Given the description of an element on the screen output the (x, y) to click on. 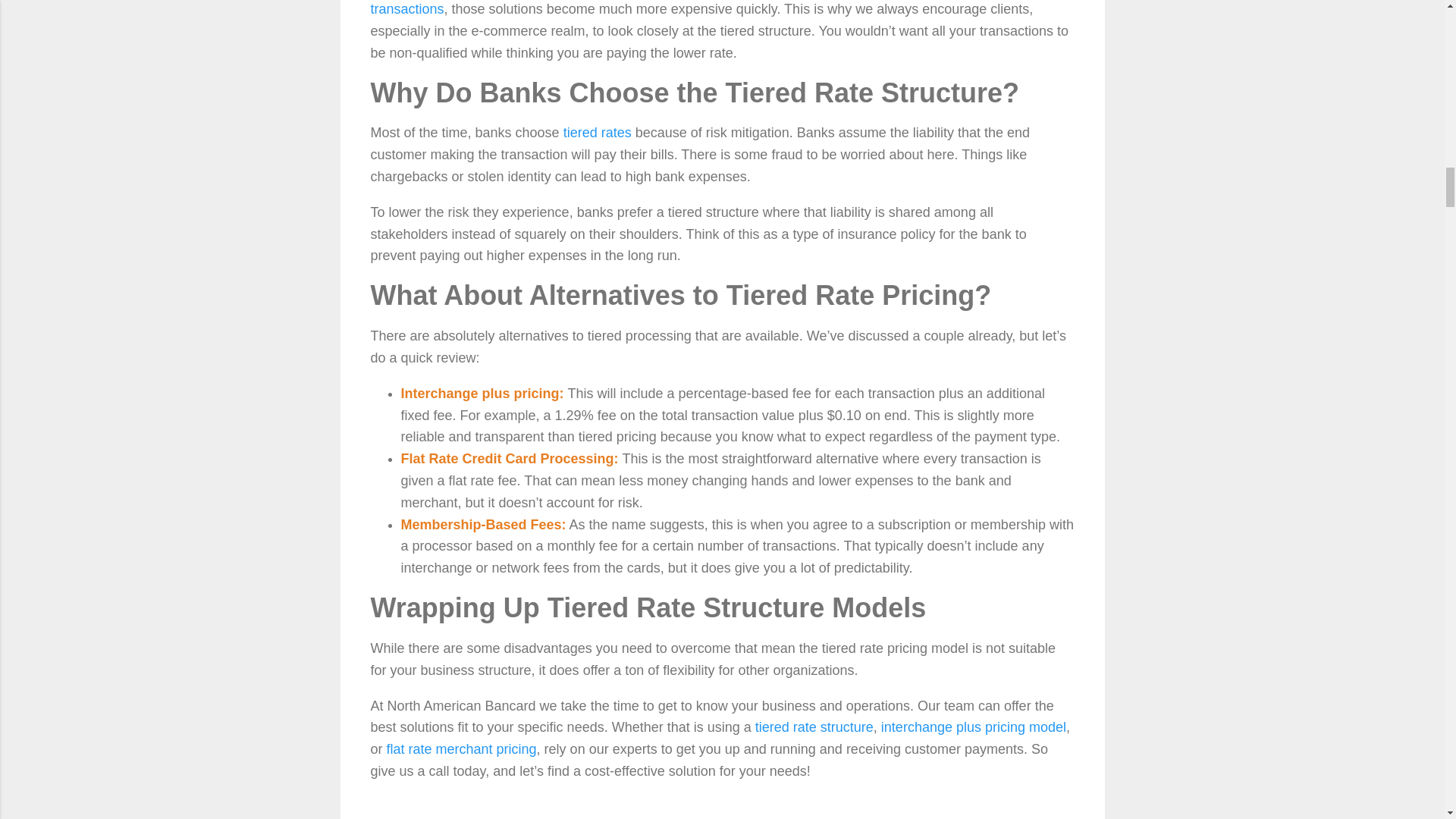
tiered rates (597, 132)
Flat Rate Credit Card Processing (506, 458)
tiered rate structure (814, 726)
interchange plus pricing model (972, 726)
Interchange plus pricing (479, 393)
non-qualified transactions (699, 8)
